Given the description of an element on the screen output the (x, y) to click on. 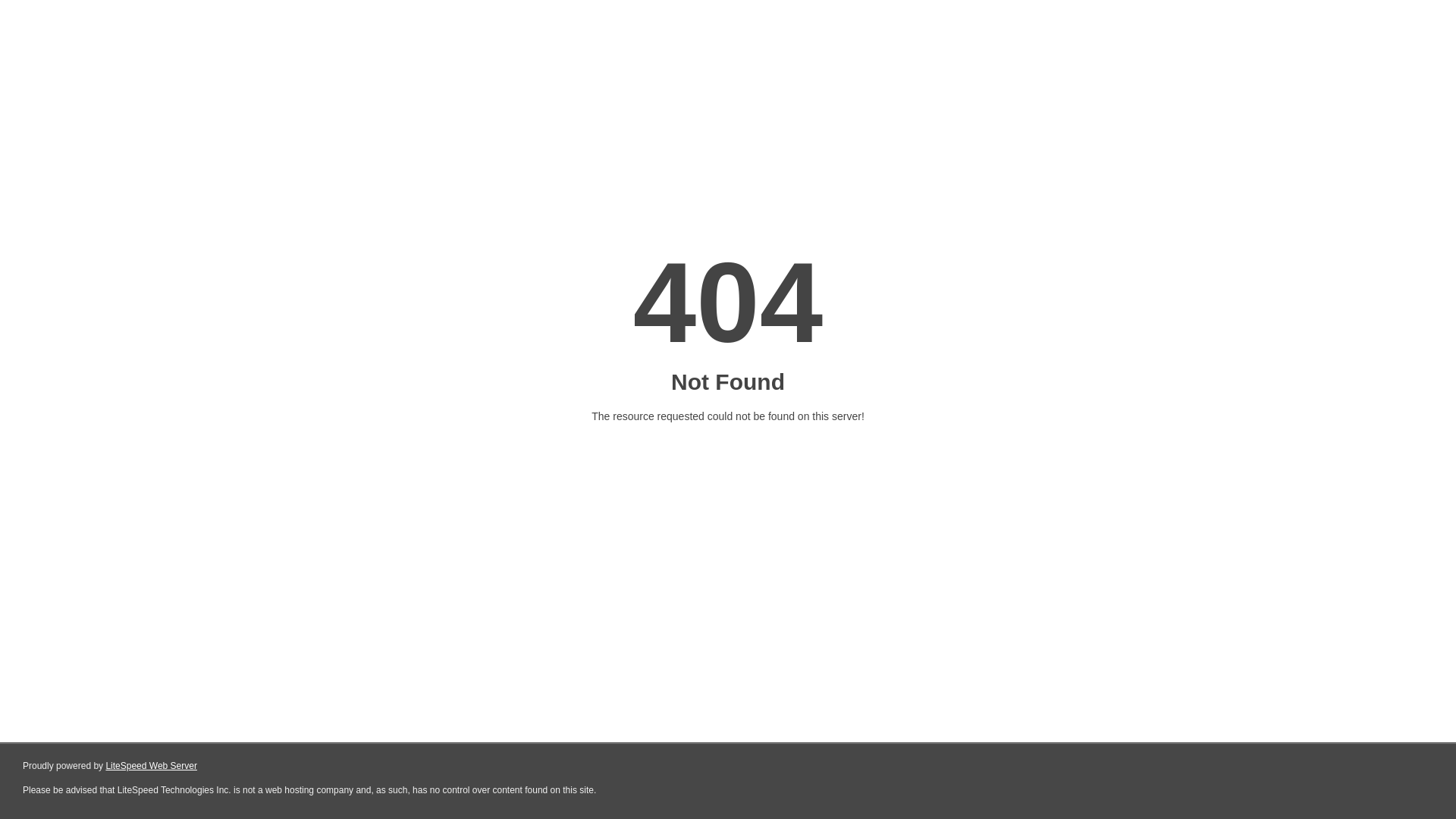
LiteSpeed Web Server Element type: text (151, 765)
